Given the description of an element on the screen output the (x, y) to click on. 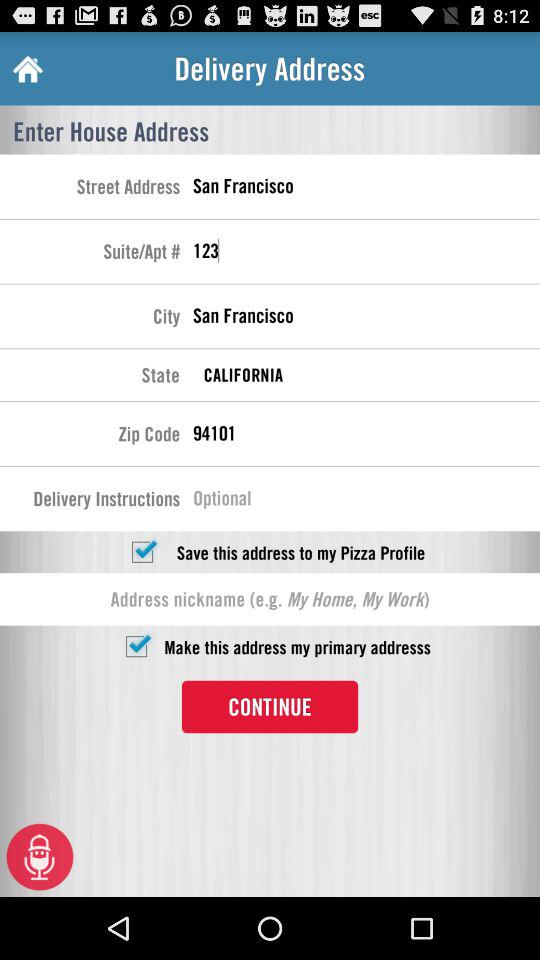
delivery instructions (366, 501)
